Given the description of an element on the screen output the (x, y) to click on. 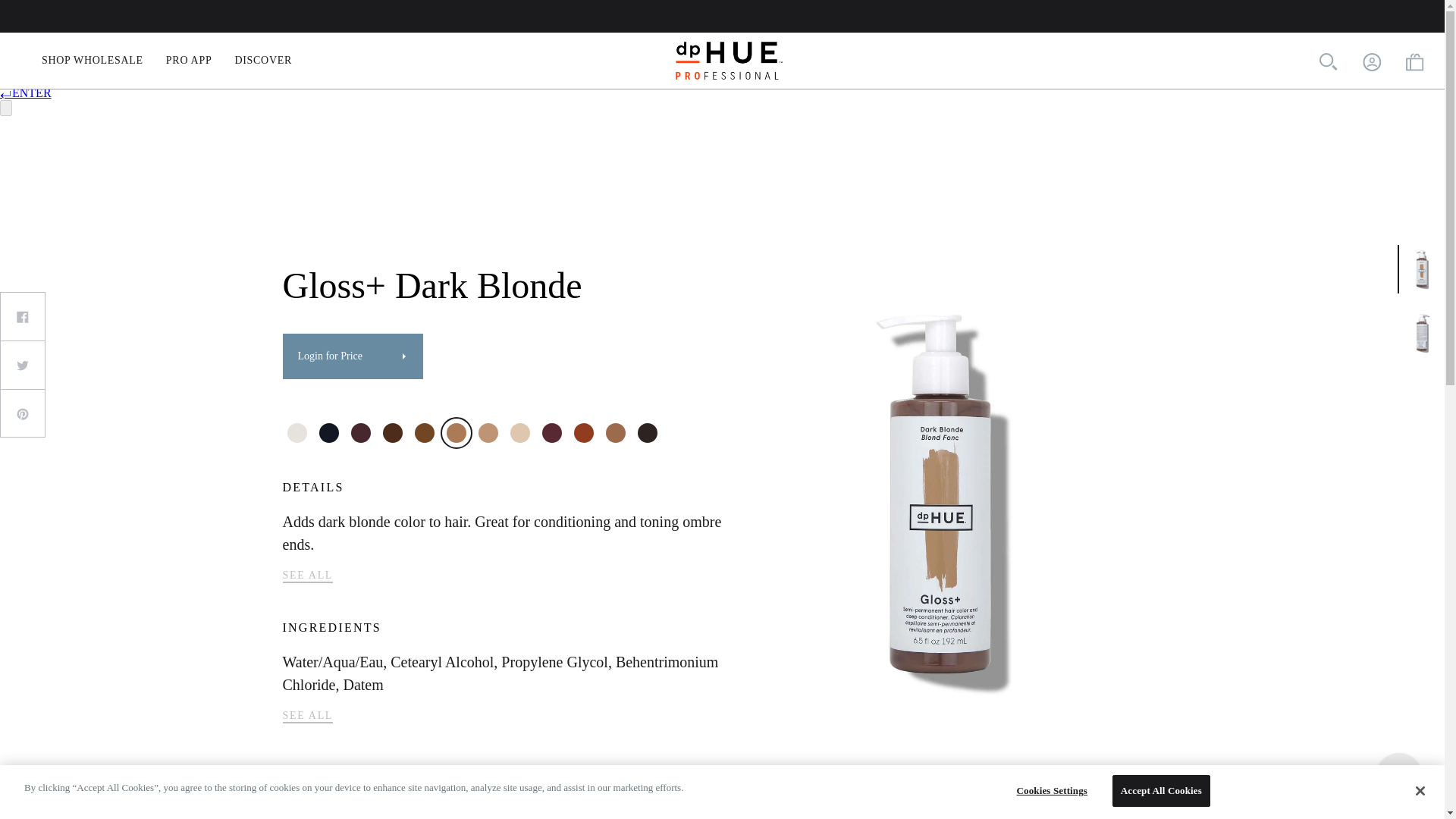
SHOP WHOLESALE (92, 60)
DISCOVER (263, 60)
Gorgias live chat messenger (1398, 775)
